Given the description of an element on the screen output the (x, y) to click on. 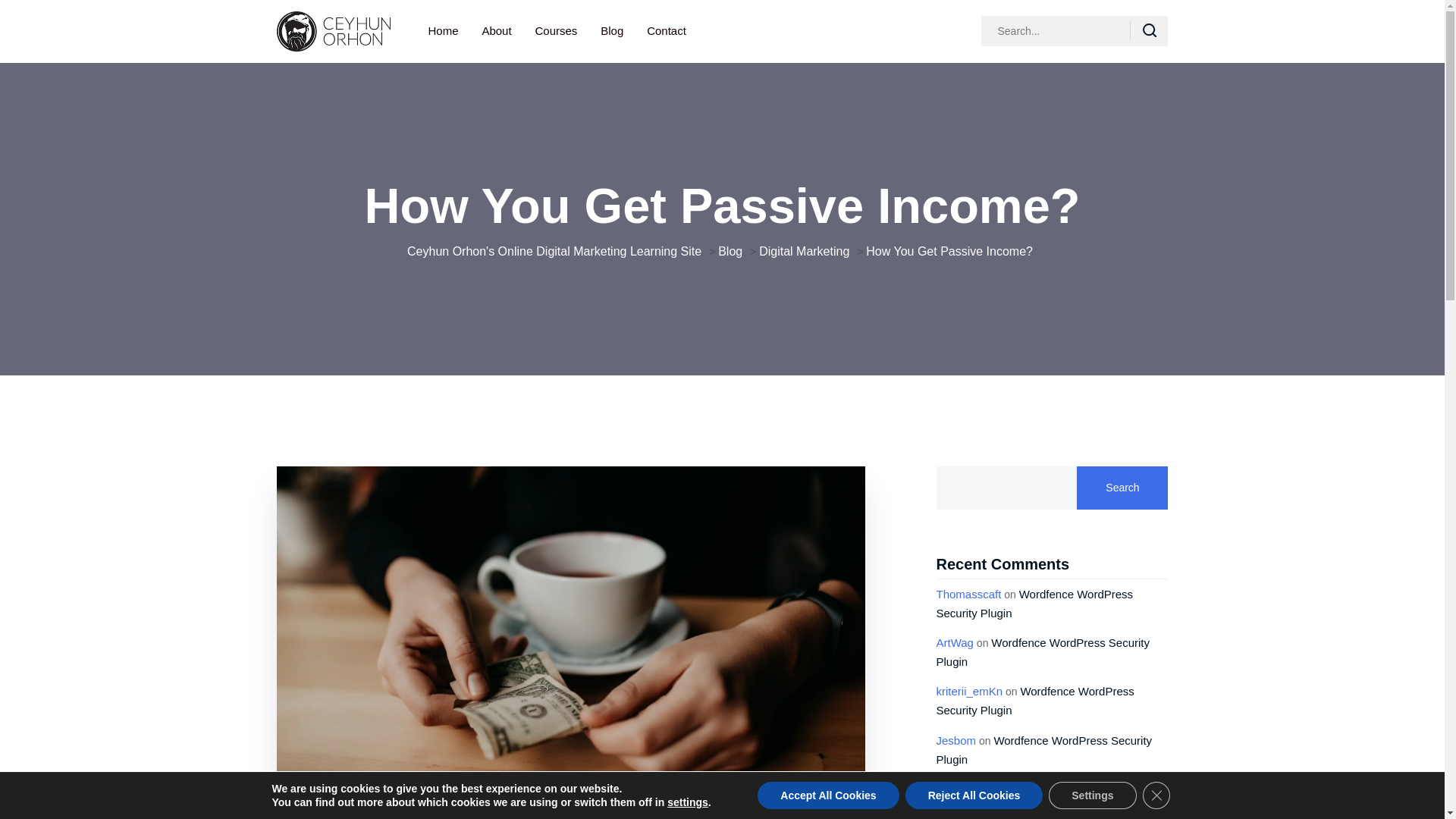
Jesbom (955, 739)
Wordfence WordPress Security Plugin (1043, 652)
Ceyhun Orhon'S Online Digital Marketing Learning Site (554, 250)
Go to Blog. (729, 250)
Home (443, 31)
Blog (729, 250)
Wordfence WordPress Security Plugin (1035, 700)
Blog (611, 31)
Thomasscaft (968, 593)
Courses (556, 31)
Wordfence WordPress Security Plugin (1043, 749)
Search (1122, 487)
ArtWag (954, 642)
Go to the Digital Marketing Category archives. (803, 250)
Wordfence WordPress Security Plugin (1034, 603)
